Given the description of an element on the screen output the (x, y) to click on. 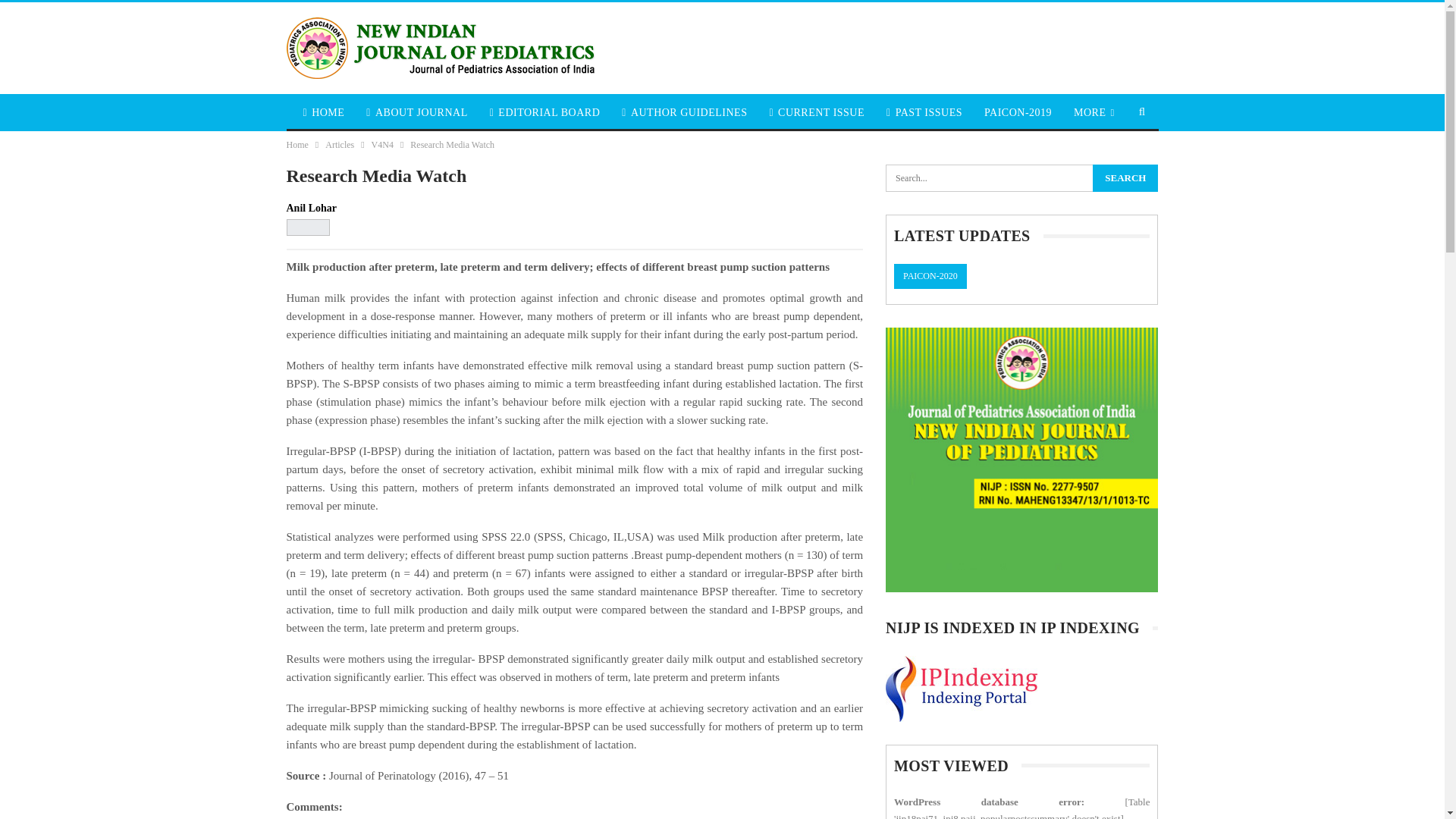
Search (1125, 177)
V4N4 (382, 144)
MORE (1094, 113)
PAICON-2019 (1018, 113)
EDITORIAL BOARD (545, 113)
Home (297, 144)
Search (1125, 177)
CURRENT ISSUE (816, 113)
PAST ISSUES (924, 113)
ABOUT JOURNAL (416, 113)
